Given the description of an element on the screen output the (x, y) to click on. 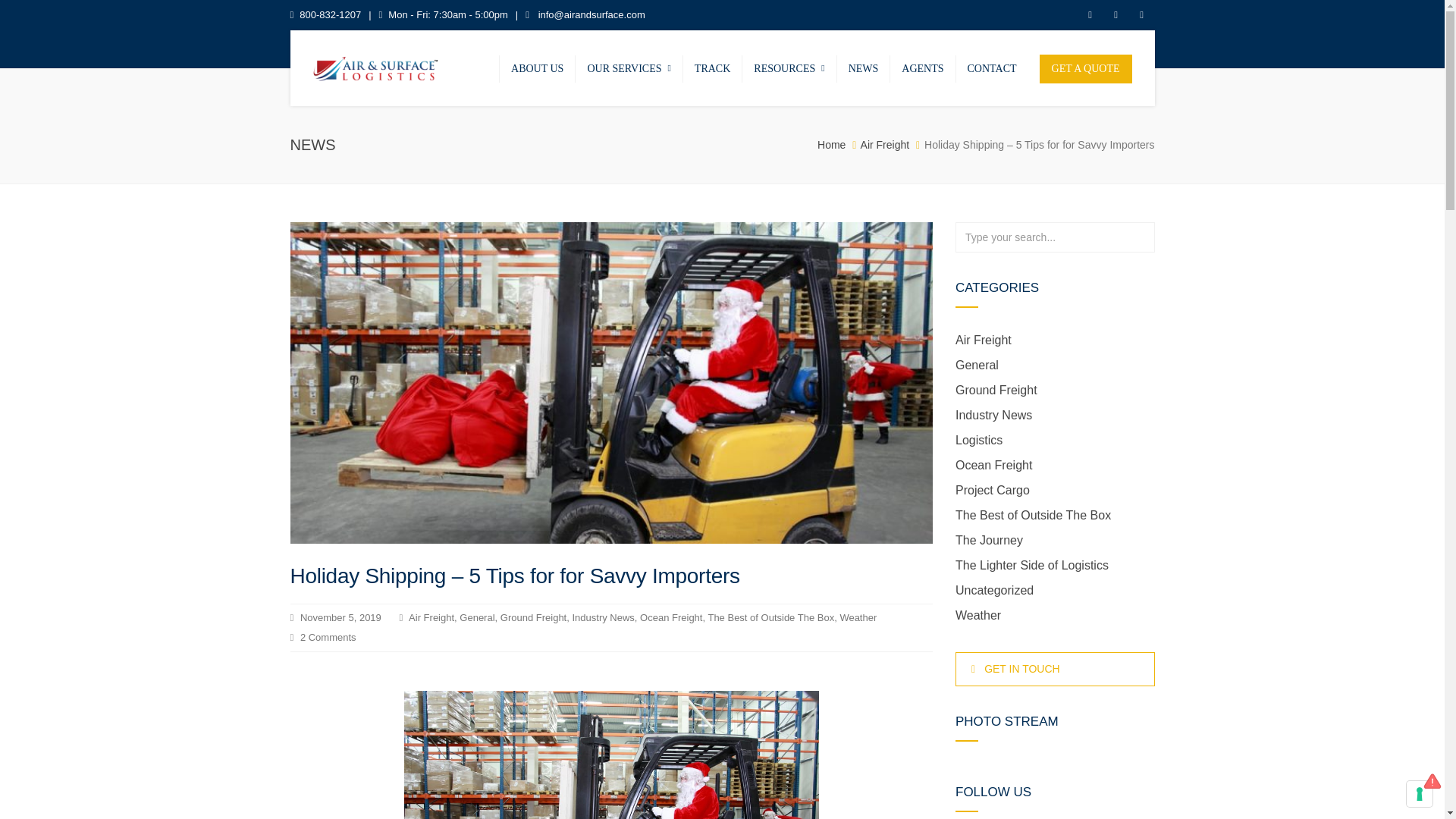
The Best of Outside The Box (770, 617)
RESOURCES (788, 67)
Ocean Freight (670, 617)
Air Freight (431, 617)
NEWS (863, 67)
November 5, 2019 (340, 617)
ABOUT US (537, 67)
Air Freight (885, 144)
General (477, 617)
Ground Freight (533, 617)
OUR SERVICES (628, 67)
Industry News (602, 617)
2 Comments (327, 636)
CONTACT (991, 67)
Home (830, 144)
